Given the description of an element on the screen output the (x, y) to click on. 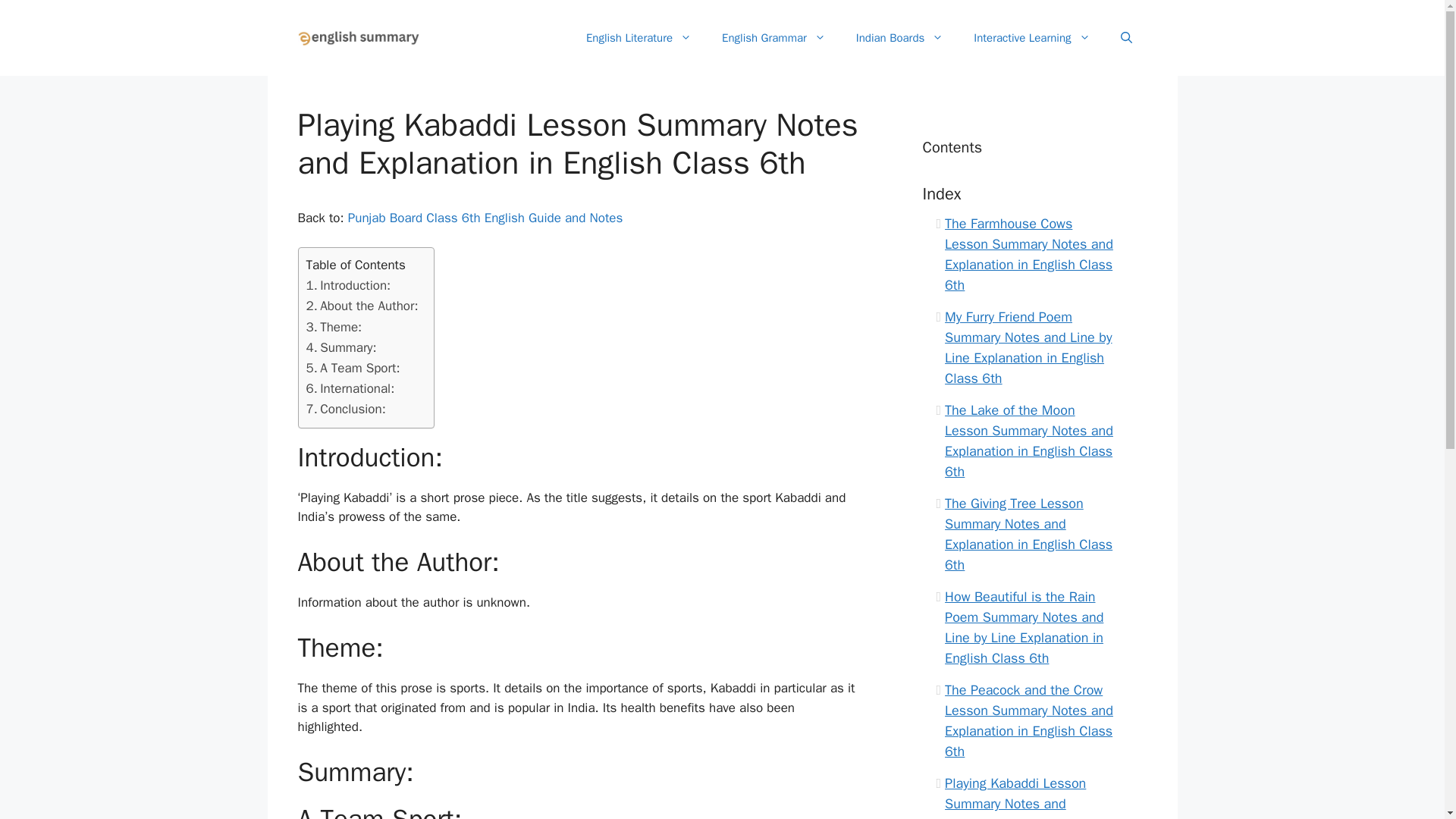
Indian Boards (899, 37)
English Grammar (773, 37)
About the Author: (362, 305)
Conclusion: (345, 408)
Interactive Learning (1031, 37)
Introduction: (348, 285)
English Literature (638, 37)
Summary: (341, 347)
A Team Sport: (352, 367)
International: (349, 388)
